Given the description of an element on the screen output the (x, y) to click on. 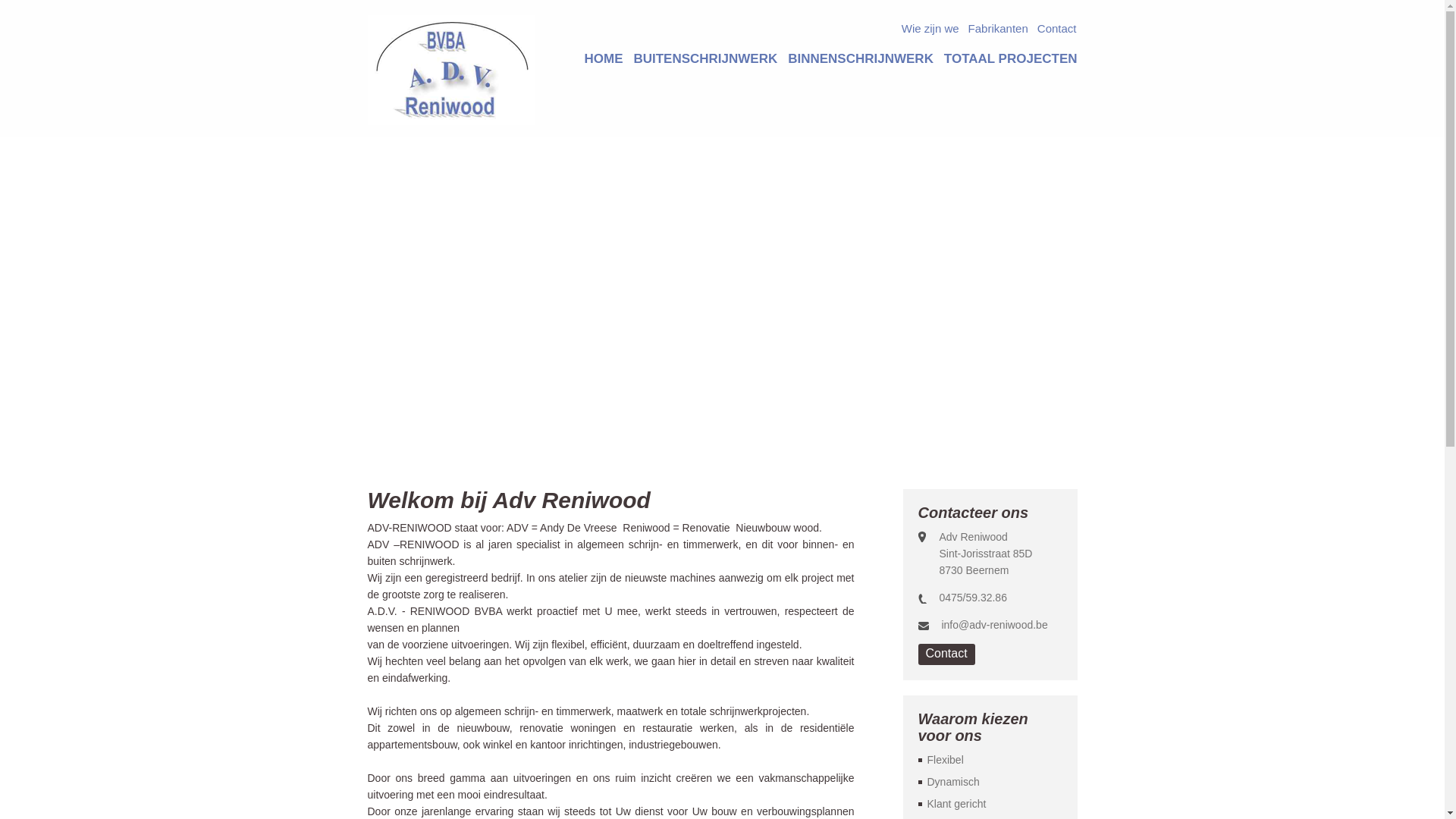
info@adv-reniwood.be Element type: text (994, 624)
TOTAAL PROJECTEN Element type: text (1010, 59)
BINNENSCHRIJNWERK Element type: text (860, 59)
Contact Element type: text (945, 654)
HOME Element type: text (602, 59)
BUITENSCHRIJNWERK Element type: text (705, 59)
Fabrikanten Element type: text (998, 30)
Contact Element type: text (1056, 30)
Wie zijn we Element type: text (930, 30)
